Given the description of an element on the screen output the (x, y) to click on. 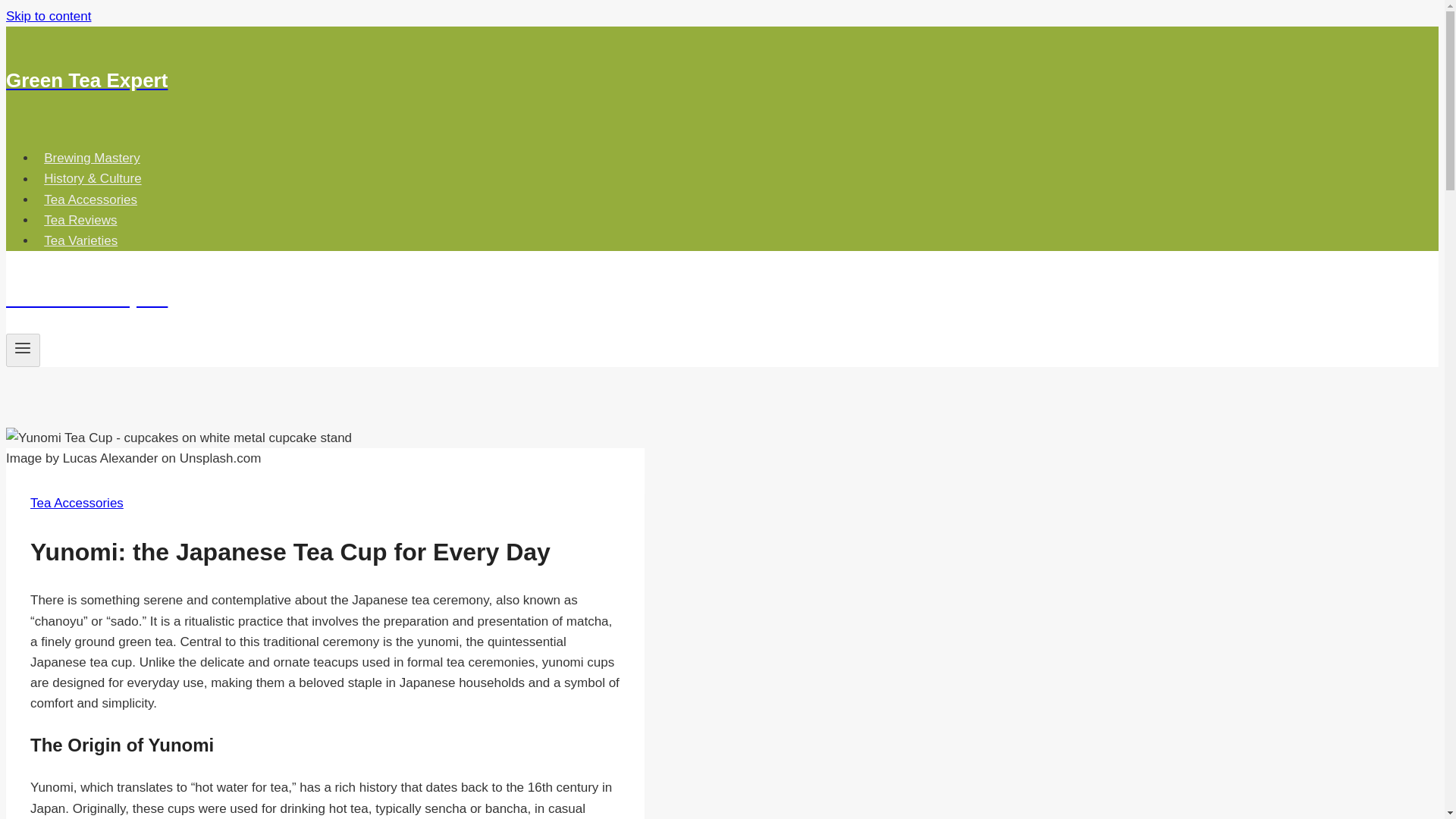
Tea Varieties (80, 240)
Green Tea Expert (494, 80)
Brewing Mastery (92, 157)
Skip to content (47, 16)
Green Tea Expert (494, 298)
Toggle Menu (22, 348)
Tea Accessories (76, 503)
Tea Reviews (80, 220)
Tea Accessories (90, 199)
Toggle Menu (22, 349)
Skip to content (47, 16)
